Given the description of an element on the screen output the (x, y) to click on. 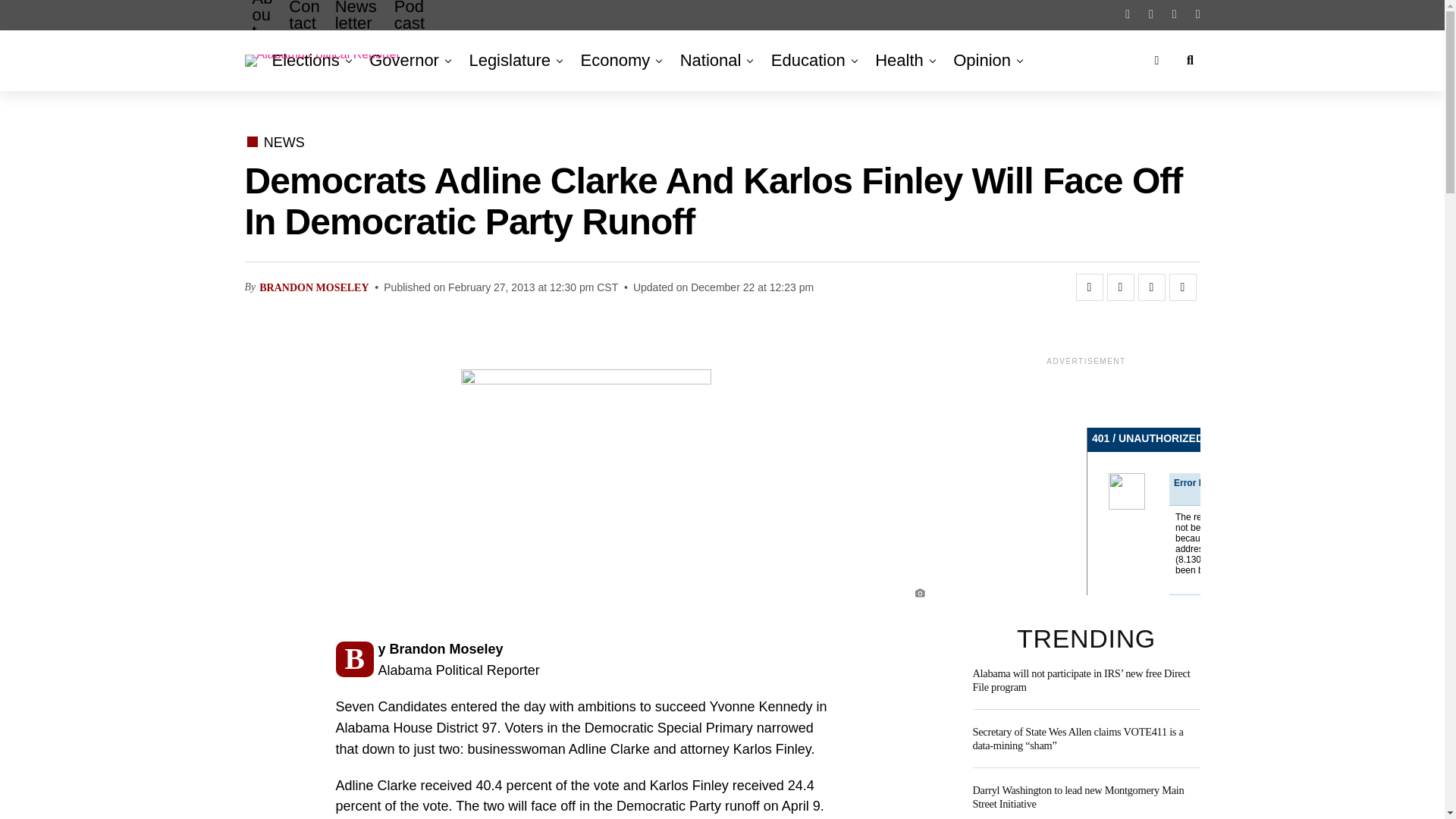
Share on Flipboard (1150, 287)
Tweet This Post (1120, 287)
Governor (403, 60)
Newsletter (357, 27)
Share on Facebook (1088, 287)
Posts by Brandon Moseley (313, 287)
Elections (308, 60)
